Given the description of an element on the screen output the (x, y) to click on. 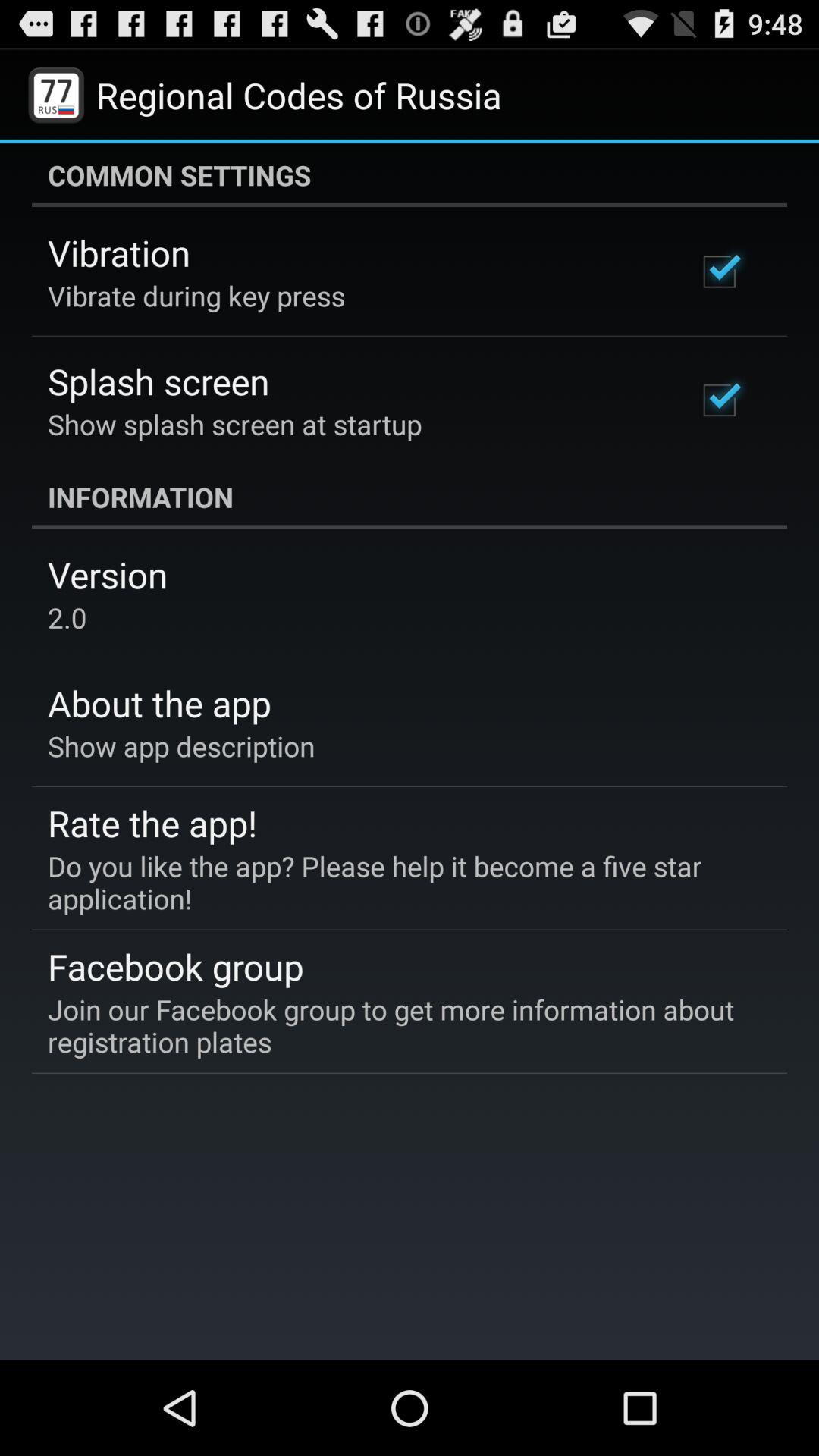
click the item below the information item (107, 574)
